Given the description of an element on the screen output the (x, y) to click on. 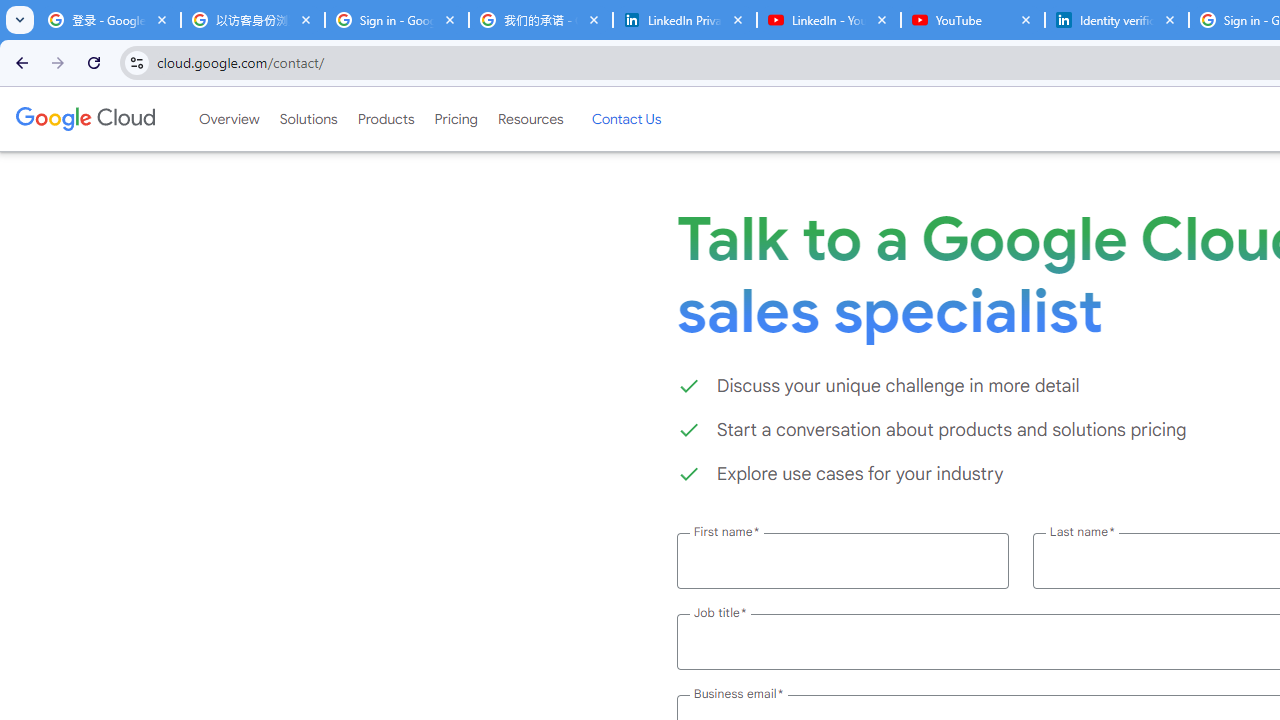
LinkedIn - YouTube (828, 20)
LinkedIn Privacy Policy (684, 20)
Sign in - Google Accounts (396, 20)
Pricing (455, 119)
Google Cloud (84, 118)
First name * (842, 560)
